Given the description of an element on the screen output the (x, y) to click on. 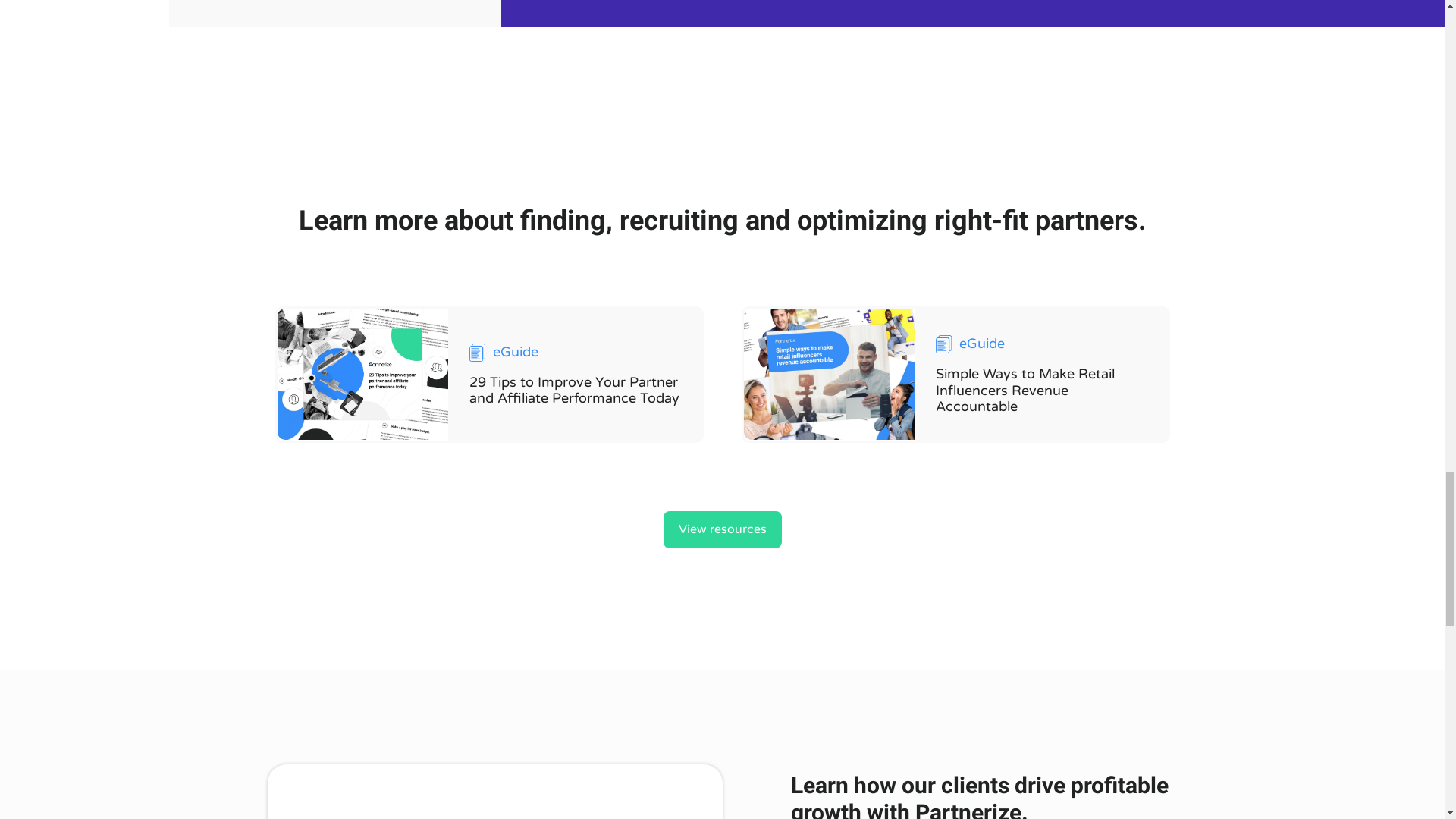
View resources (721, 529)
Simple Ways to Make Retail Influencers Revenue Accountable (1025, 389)
